Given the description of an element on the screen output the (x, y) to click on. 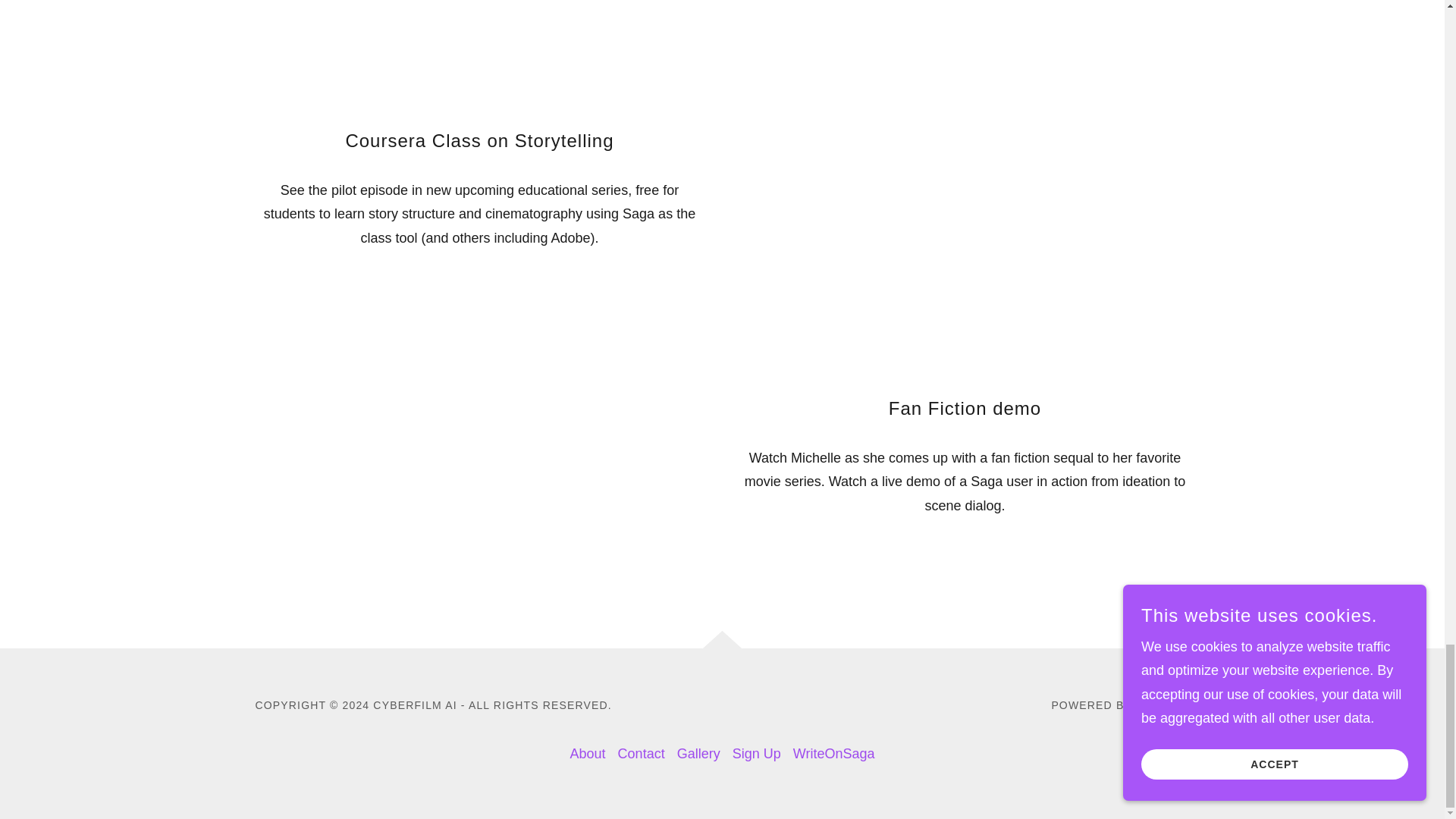
Gallery (698, 753)
Sign Up (756, 753)
GODADDY (1162, 705)
WriteOnSaga (833, 753)
Contact (641, 753)
About (587, 753)
